Given the description of an element on the screen output the (x, y) to click on. 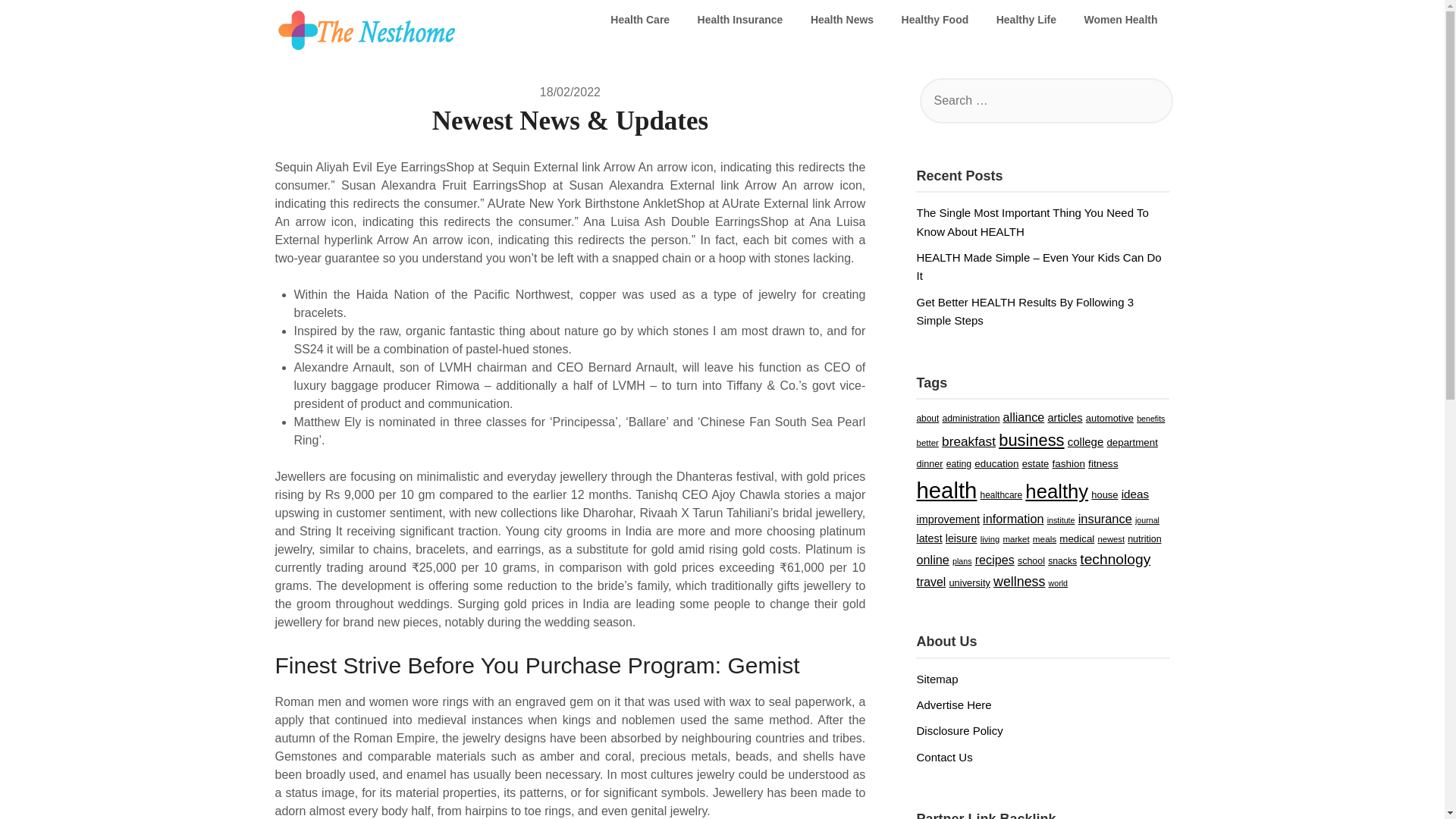
breakfast (968, 441)
benefits (1150, 418)
Health News (841, 20)
health (945, 489)
department (1131, 441)
Women Health (1120, 20)
improvement (946, 519)
healthy (1056, 491)
fitness (1102, 463)
better (926, 442)
eating (958, 463)
Search (38, 22)
Health Care (639, 20)
dinner (928, 463)
